Given the description of an element on the screen output the (x, y) to click on. 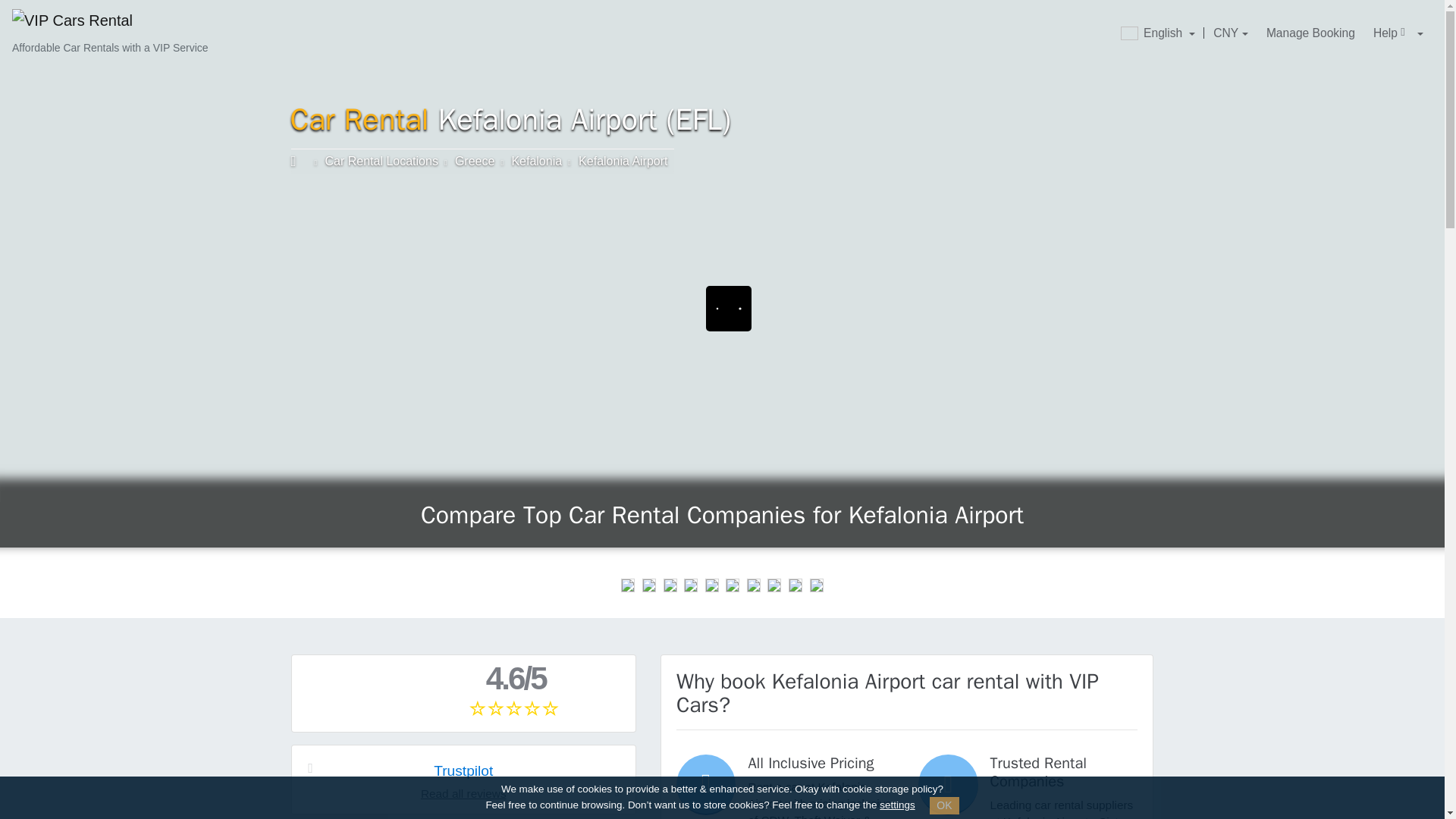
English (1158, 33)
Car Rental Locations (381, 160)
Budget (711, 585)
Kefalonia (536, 160)
Trustpilot (463, 770)
VIPCars.com (299, 161)
Autounion (816, 585)
Firefly (732, 585)
Sixt (627, 585)
Affordable Car Rentals with a VIP Service (109, 32)
VIPCars (299, 161)
Car Rental Locations (381, 160)
Greece (474, 160)
Review VIP Cars on Google (462, 693)
CNY (1230, 33)
